Given the description of an element on the screen output the (x, y) to click on. 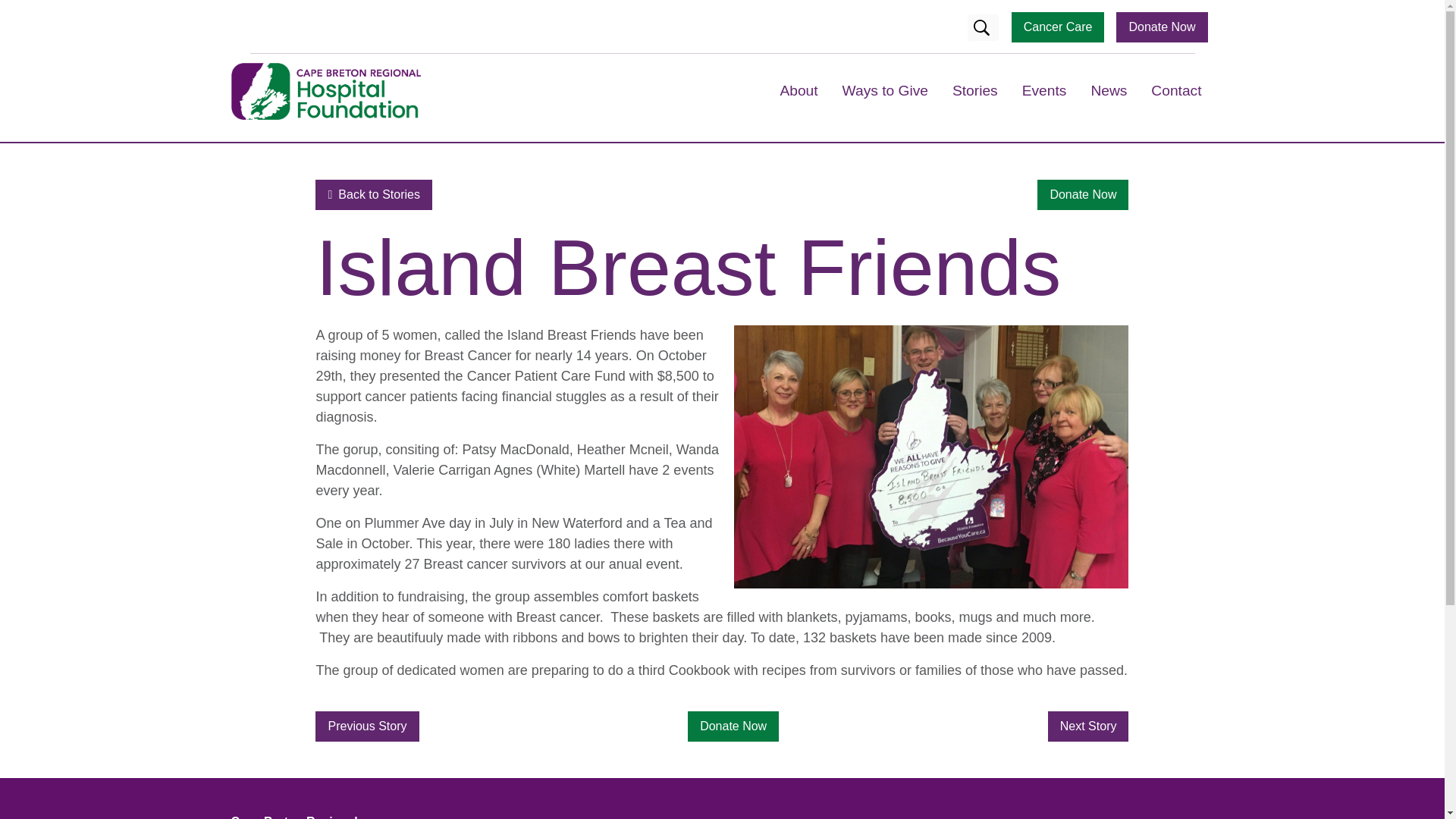
Donate Now (1082, 194)
Previous Story (367, 726)
About (798, 89)
Cancer Care (1058, 27)
Events (1044, 89)
Back to Stories (372, 194)
Stories (975, 89)
Ways to Give (884, 89)
Next Story (1088, 726)
Donate Now (732, 726)
